Given the description of an element on the screen output the (x, y) to click on. 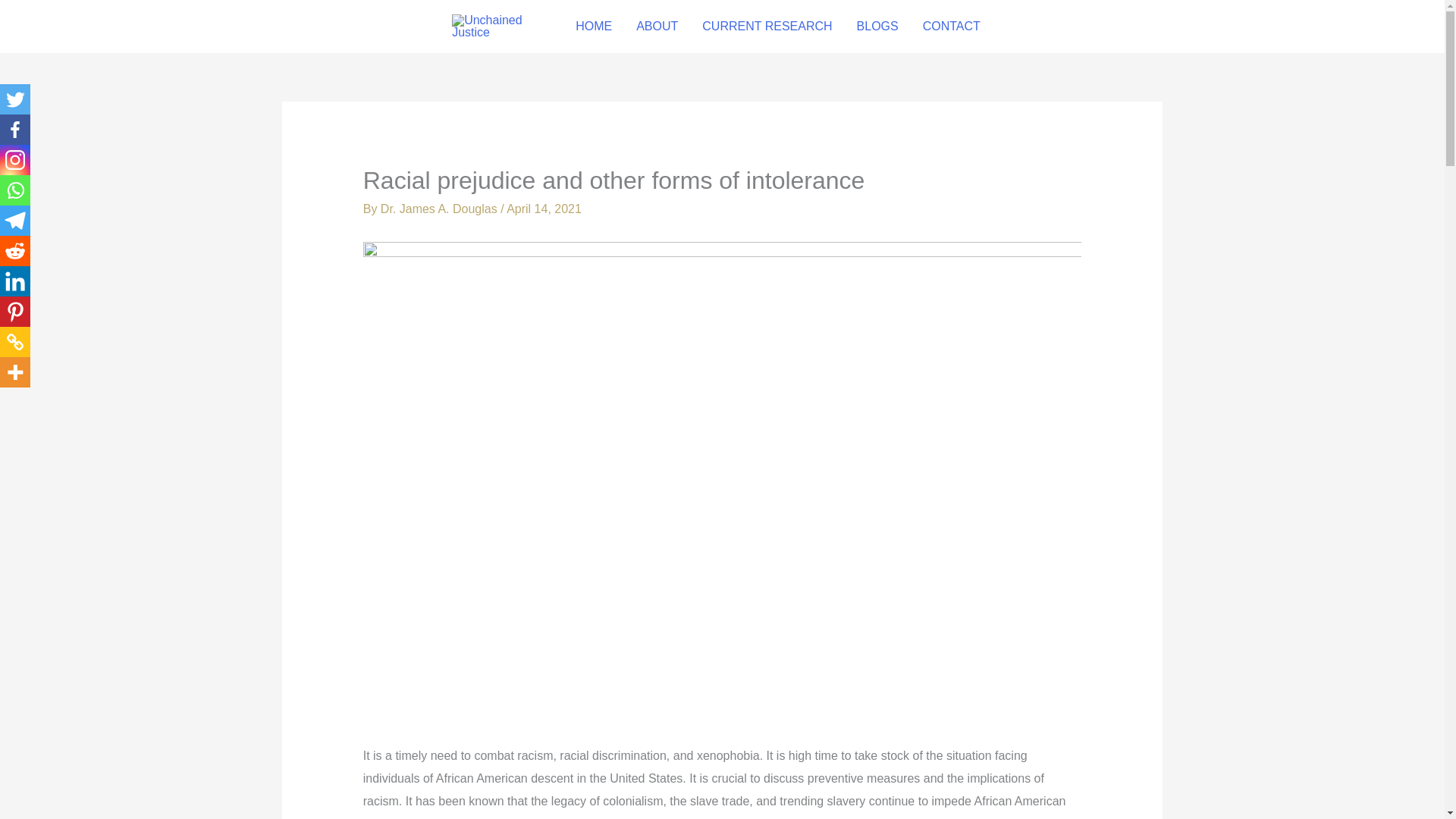
HOME (593, 26)
ABOUT (657, 26)
Linkedin (15, 281)
Twitter (15, 99)
Telegram (15, 220)
CURRENT RESEARCH (767, 26)
BLOGS (877, 26)
Facebook (15, 129)
Dr. James A. Douglas (440, 208)
Instagram (15, 159)
